Given the description of an element on the screen output the (x, y) to click on. 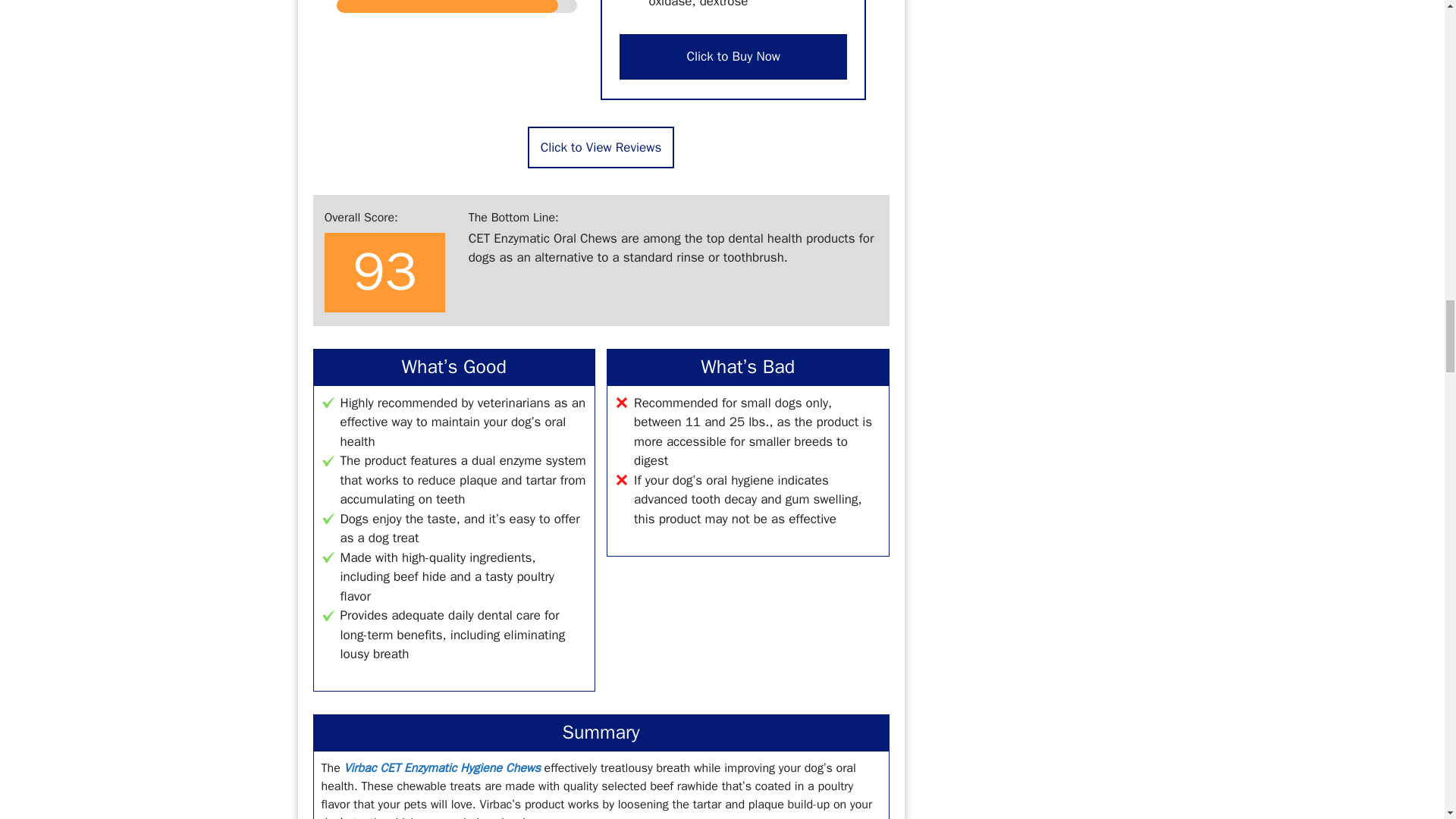
Virbac CET Enzymatic Hygiene Chews (441, 767)
Click to Buy Now (733, 56)
Click to View Reviews (601, 147)
